Given the description of an element on the screen output the (x, y) to click on. 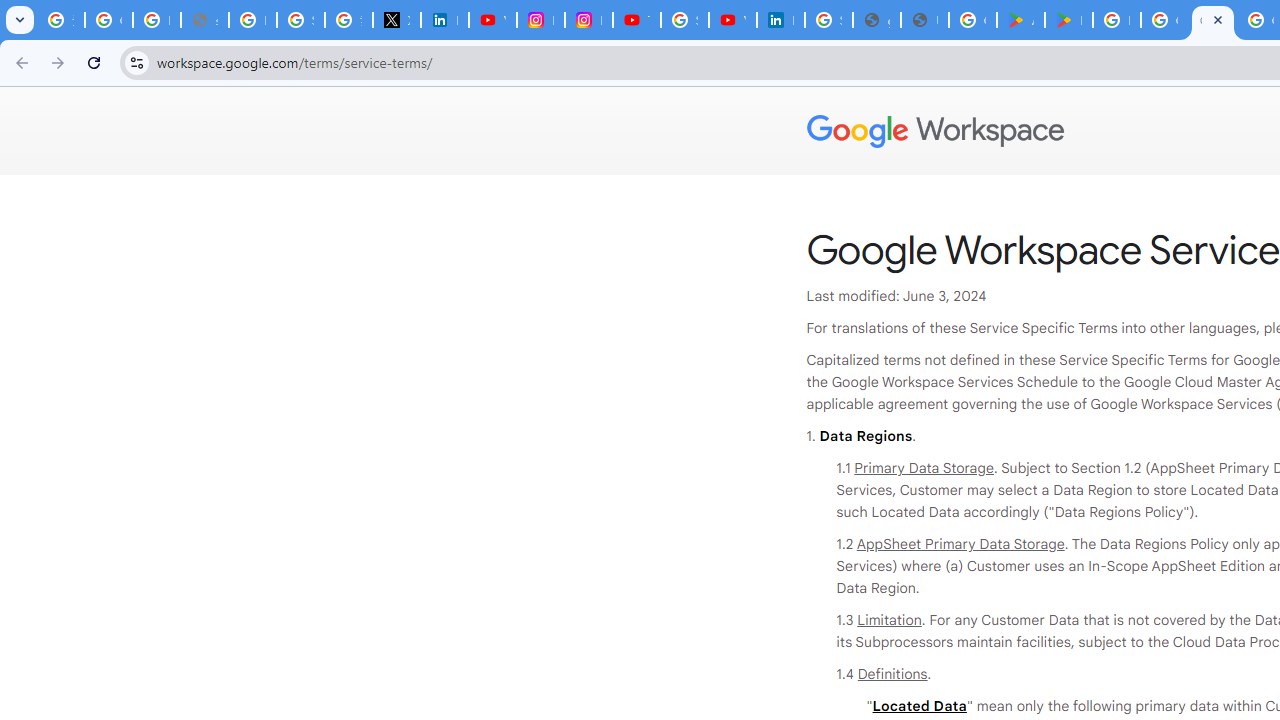
Sign in - Google Accounts (300, 20)
User Details (924, 20)
Privacy Help Center - Policies Help (252, 20)
support.google.com - Network error (204, 20)
Google Workspace - Specific Terms (1212, 20)
